Given the description of an element on the screen output the (x, y) to click on. 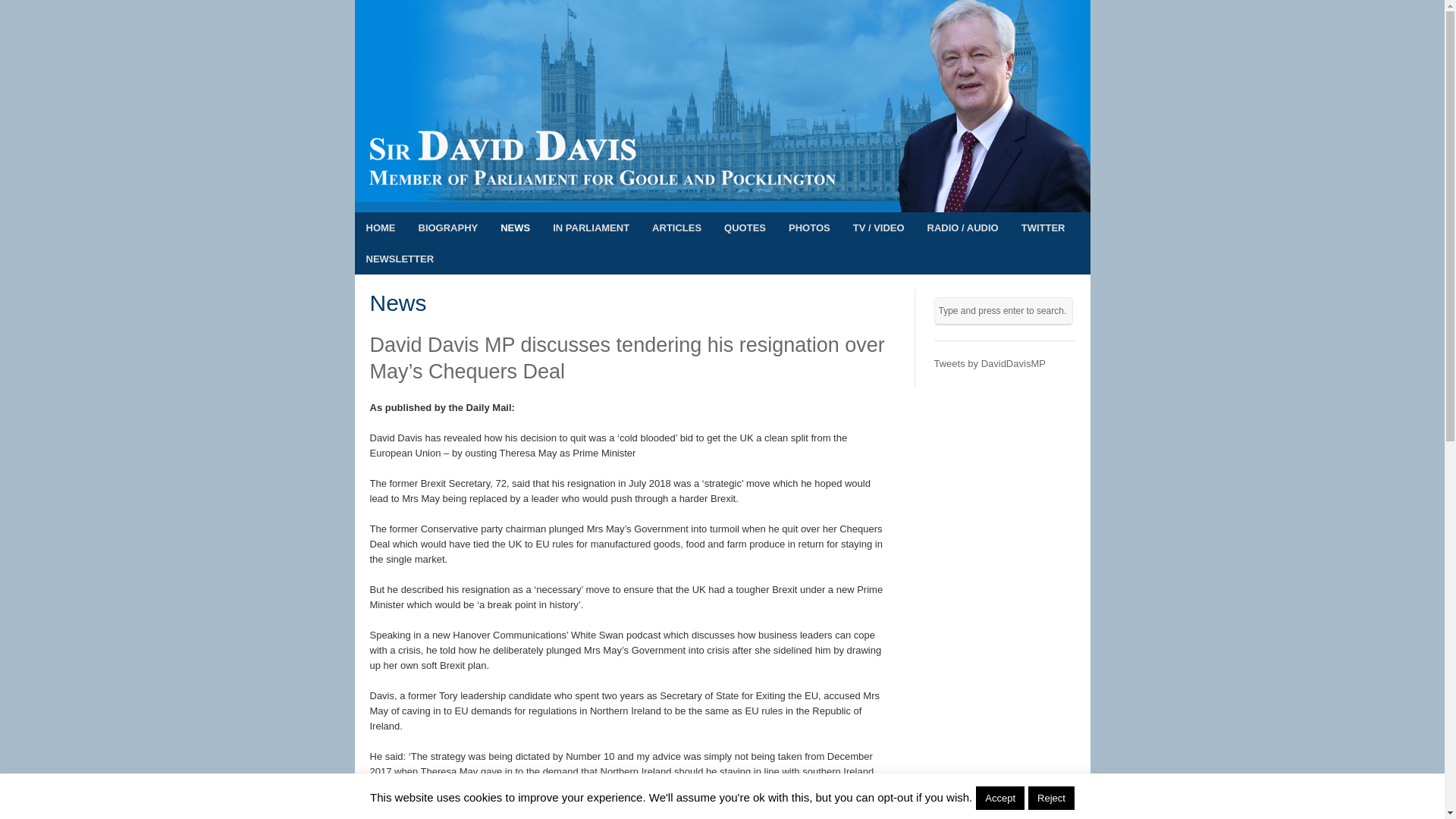
NEWSLETTER (400, 258)
Radio and Audio (962, 227)
QUOTES (745, 227)
Quotes (745, 227)
Photos (809, 227)
Accept (1000, 797)
PHOTOS (809, 227)
Newsletter (400, 258)
TWITTER (1043, 227)
NEWS (515, 227)
Rt Hon David Davis MP Biography (447, 227)
HOME (381, 227)
Reject (1050, 797)
IN PARLIAMENT (590, 227)
ARTICLES (676, 227)
